Given the description of an element on the screen output the (x, y) to click on. 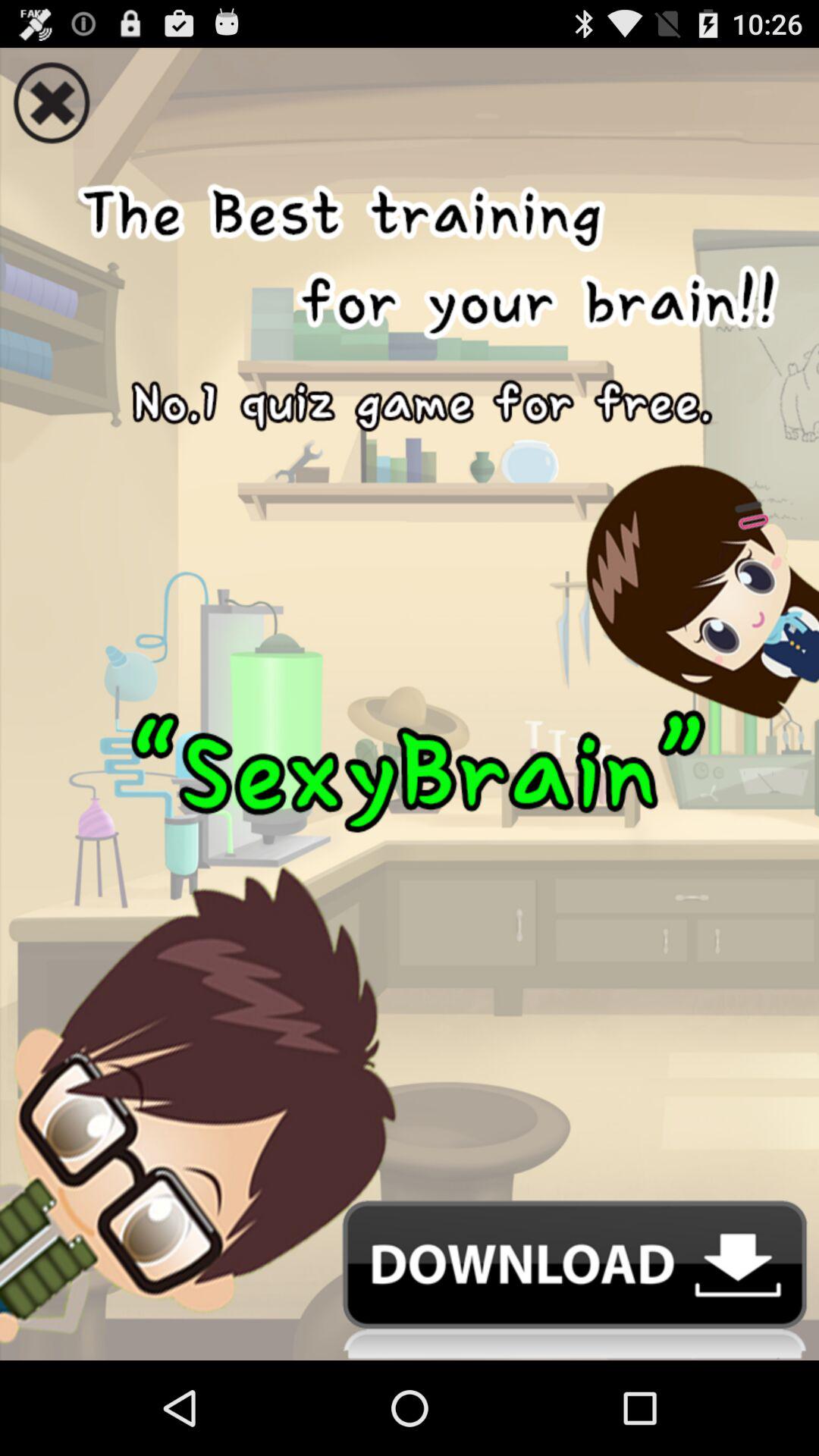
tap button at the bottom (409, 1280)
